Given the description of an element on the screen output the (x, y) to click on. 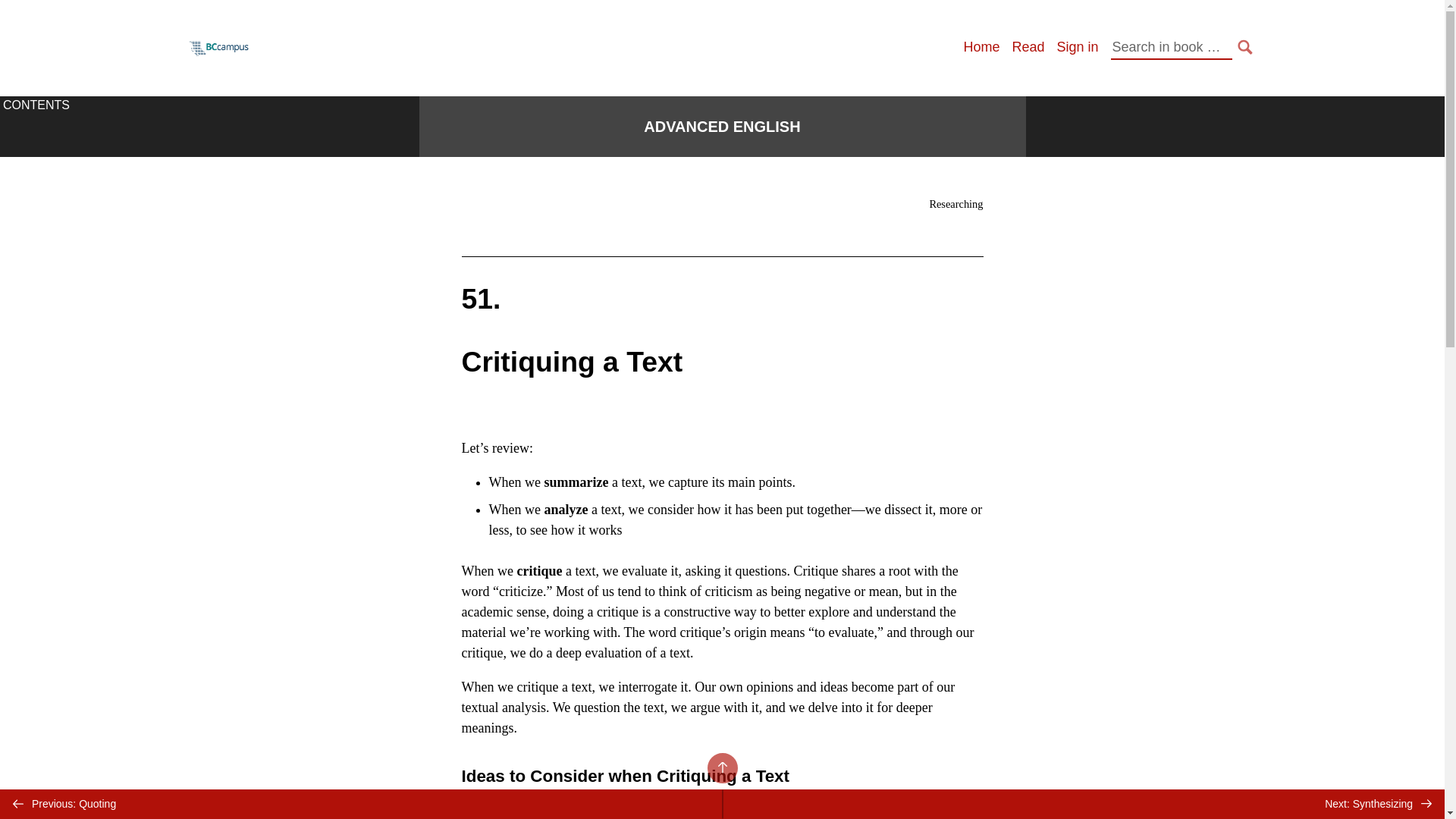
BACK TO TOP (721, 767)
Previous: Quoting (361, 804)
Read (1027, 46)
ADVANCED ENGLISH (721, 126)
Sign in (1077, 46)
Previous: Quoting (361, 804)
Home (980, 46)
